Given the description of an element on the screen output the (x, y) to click on. 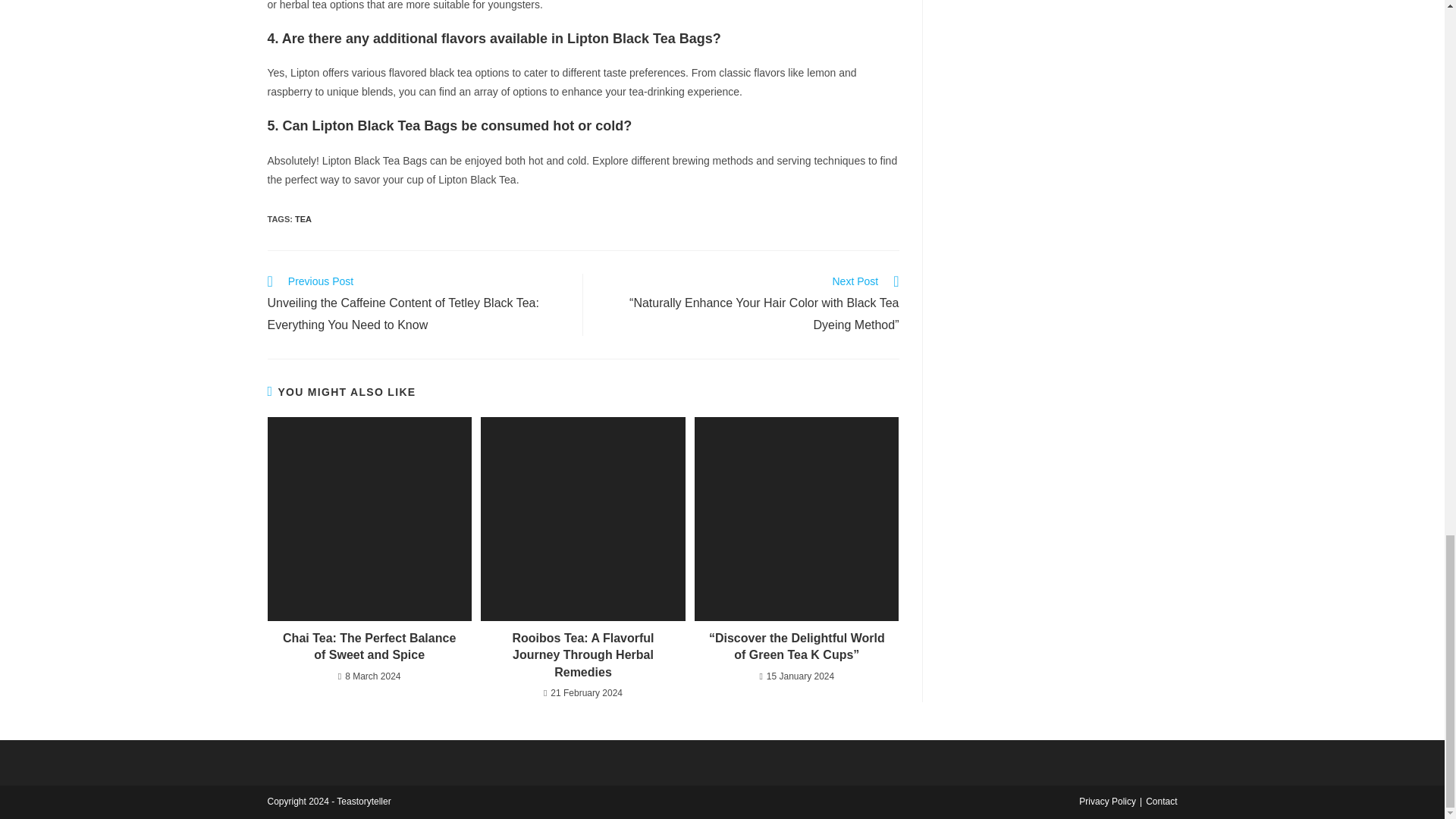
Rooibos Tea: A Flavorful Journey Through Herbal Remedies (582, 654)
Chai Tea: The Perfect Balance of Sweet and Spice (368, 646)
TEA (303, 218)
